Given the description of an element on the screen output the (x, y) to click on. 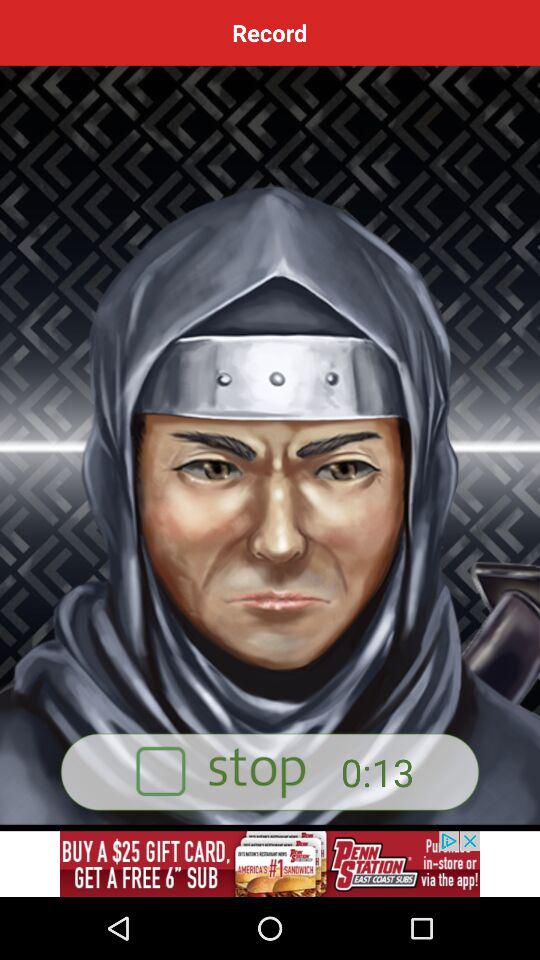
open advertisements (270, 864)
